Given the description of an element on the screen output the (x, y) to click on. 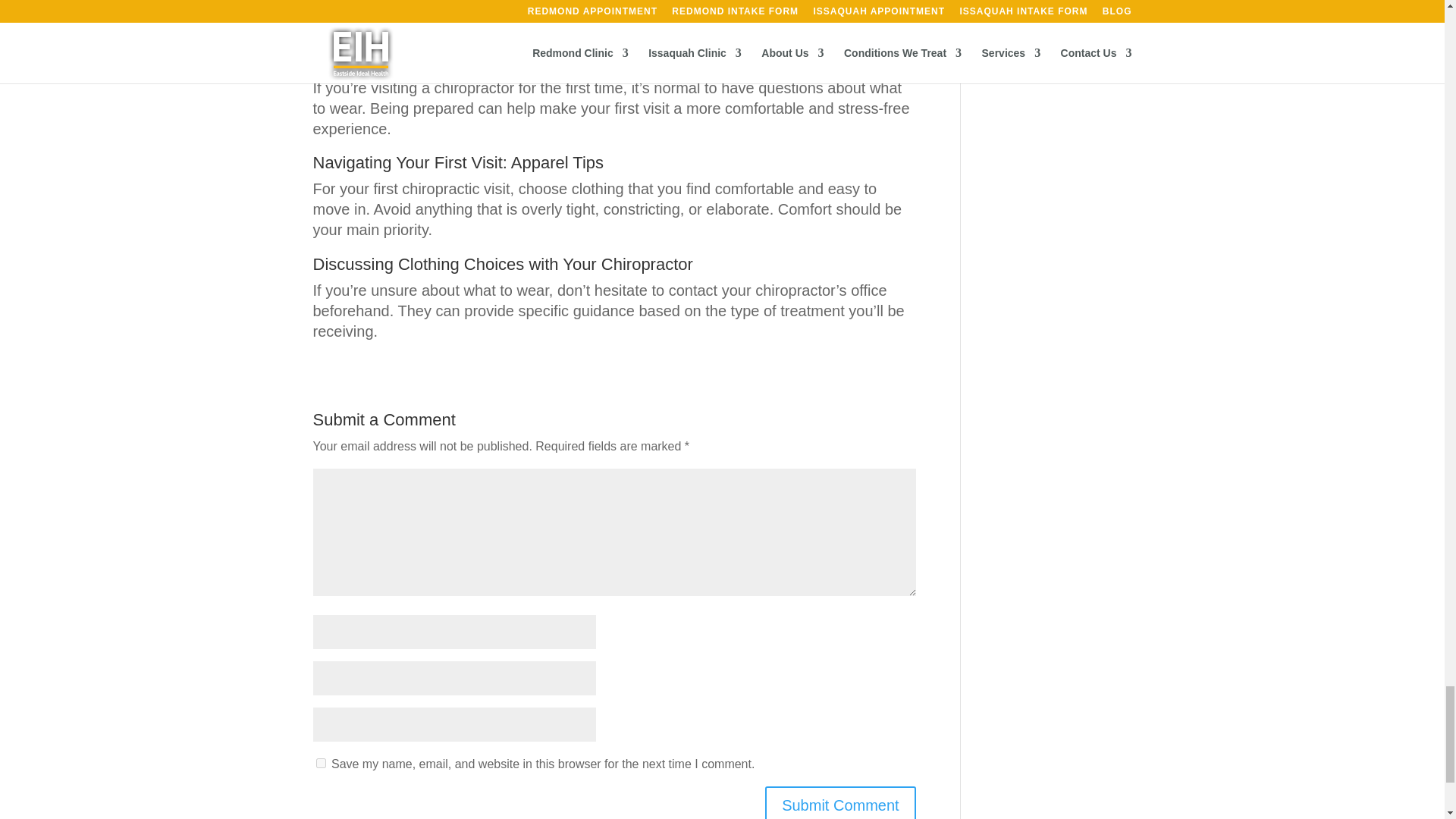
yes (319, 763)
Submit Comment (840, 802)
